Given the description of an element on the screen output the (x, y) to click on. 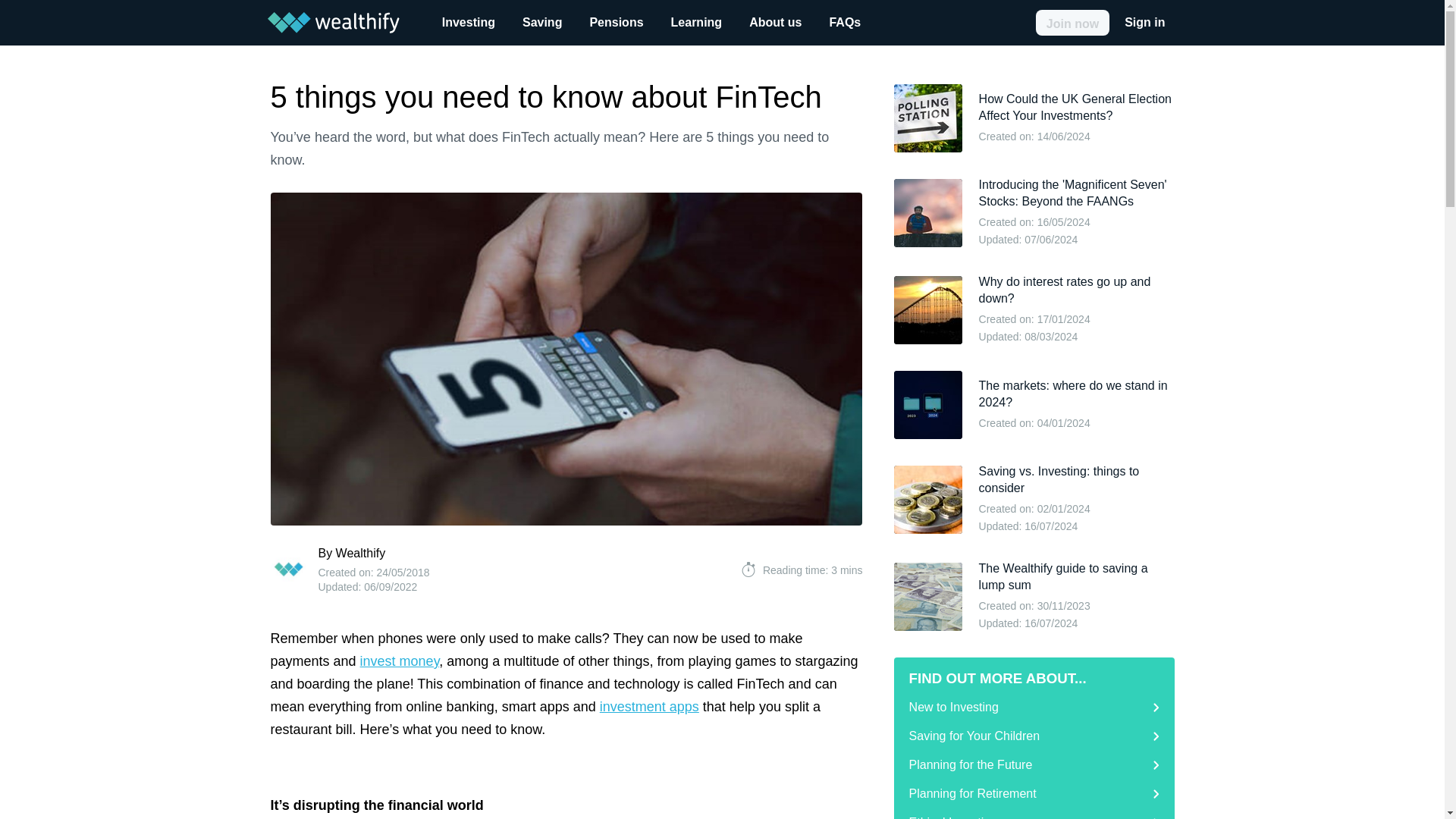
Pensions (615, 22)
ISA investment (399, 661)
Learning (697, 22)
investment apps (648, 706)
Saving (542, 22)
Investing (467, 22)
